Given the description of an element on the screen output the (x, y) to click on. 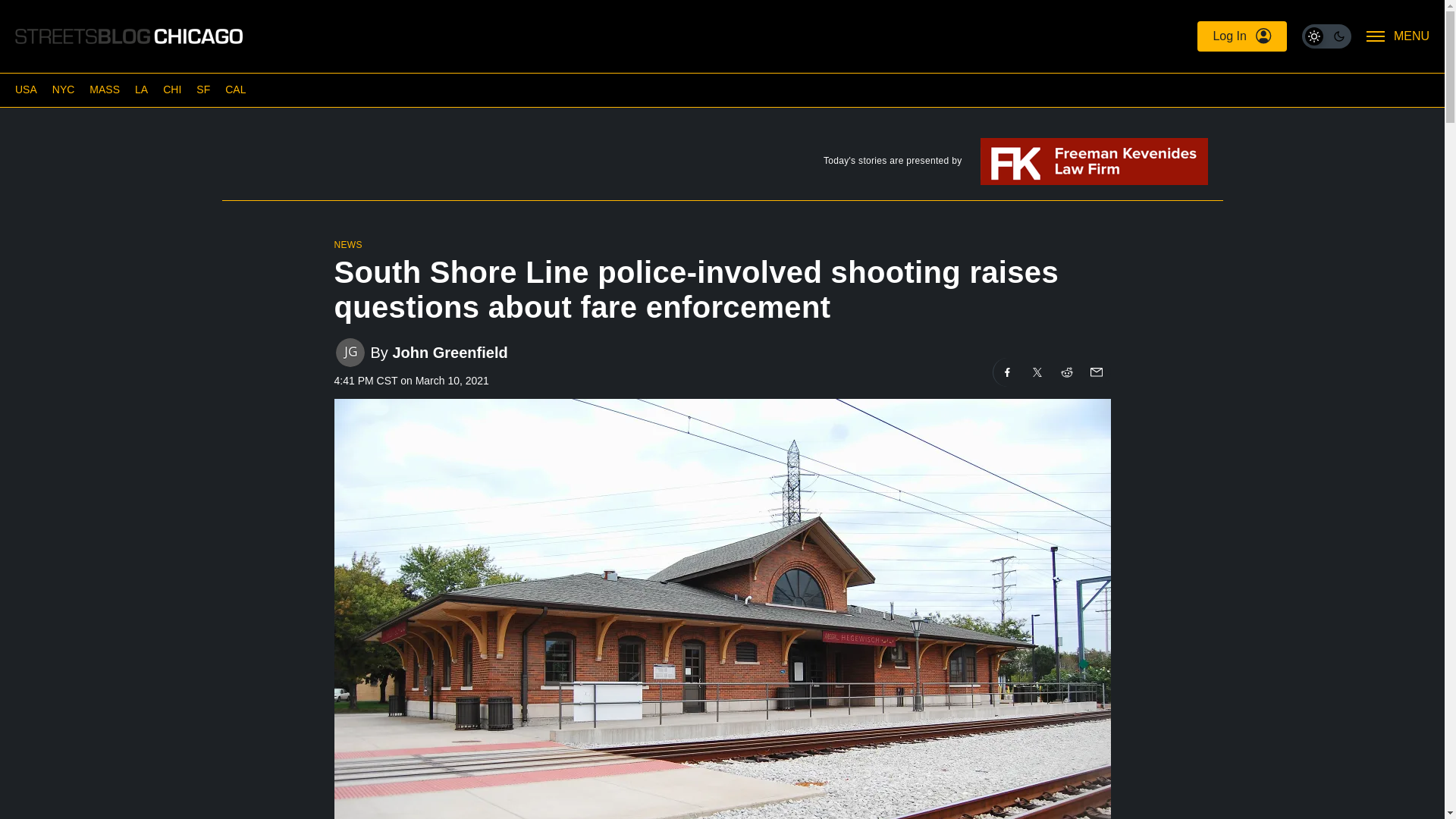
MASS (103, 89)
Share on Reddit (1066, 371)
CAL (235, 89)
NEWS (347, 244)
Today's stories are presented by (721, 164)
MENU (1398, 36)
John Greenfield (448, 352)
CHI (171, 89)
Share on Email (1095, 371)
Log In (1240, 36)
NYC (63, 89)
Share on Facebook (1007, 371)
USA (25, 89)
